Given the description of an element on the screen output the (x, y) to click on. 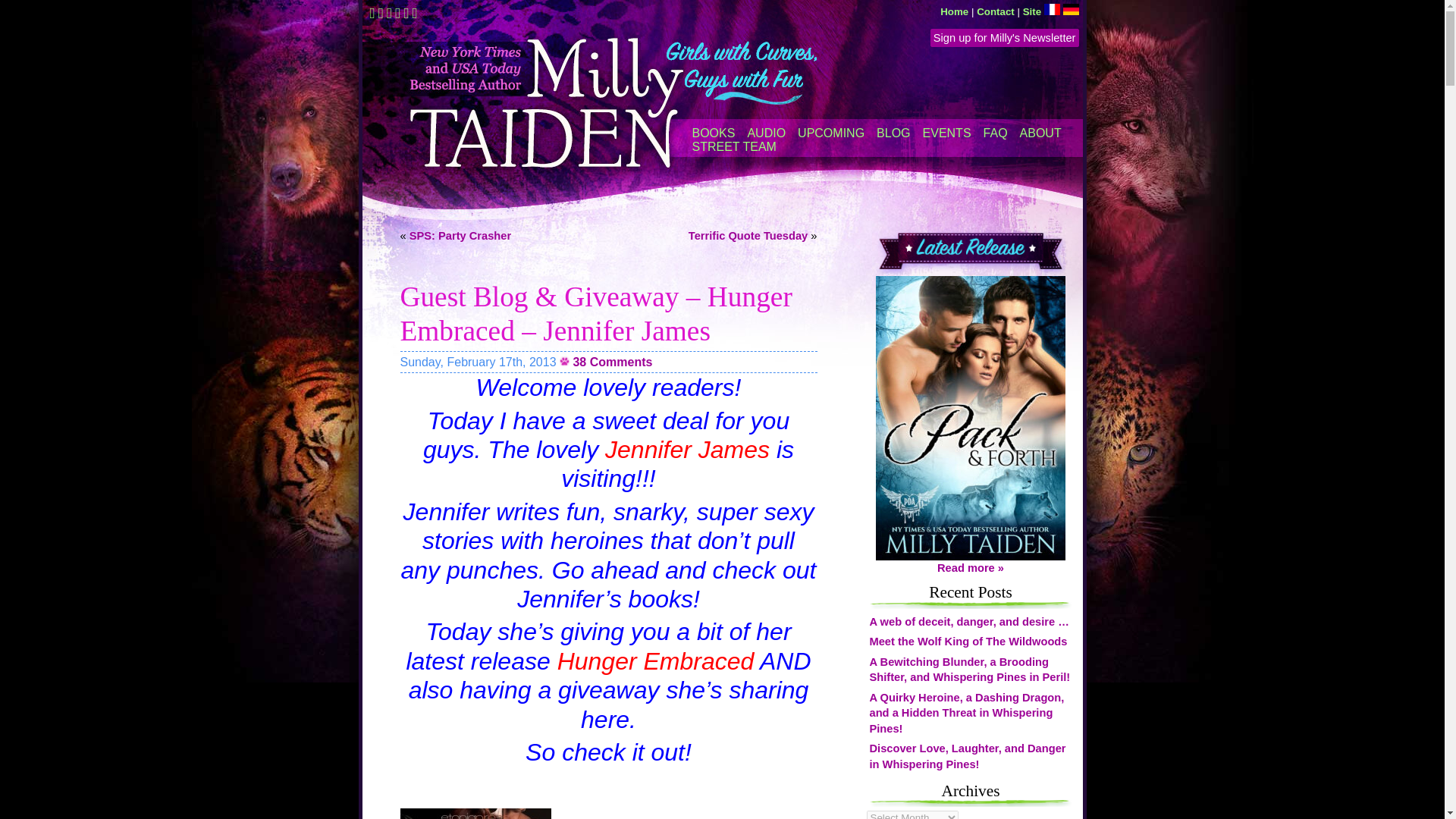
BLOG (893, 133)
UPCOMING (830, 133)
Home (954, 11)
FAQ (995, 133)
ABOUT (1040, 133)
Terrific Quote Tuesday (748, 235)
AUDIO (766, 133)
STREET TEAM (733, 146)
Contact (995, 11)
Site (1032, 11)
Sign up for Milly's Newsletter (1004, 37)
SPS: Party Crasher (460, 235)
38 Comments (612, 361)
EVENTS (947, 133)
BOOKS (713, 133)
